Given the description of an element on the screen output the (x, y) to click on. 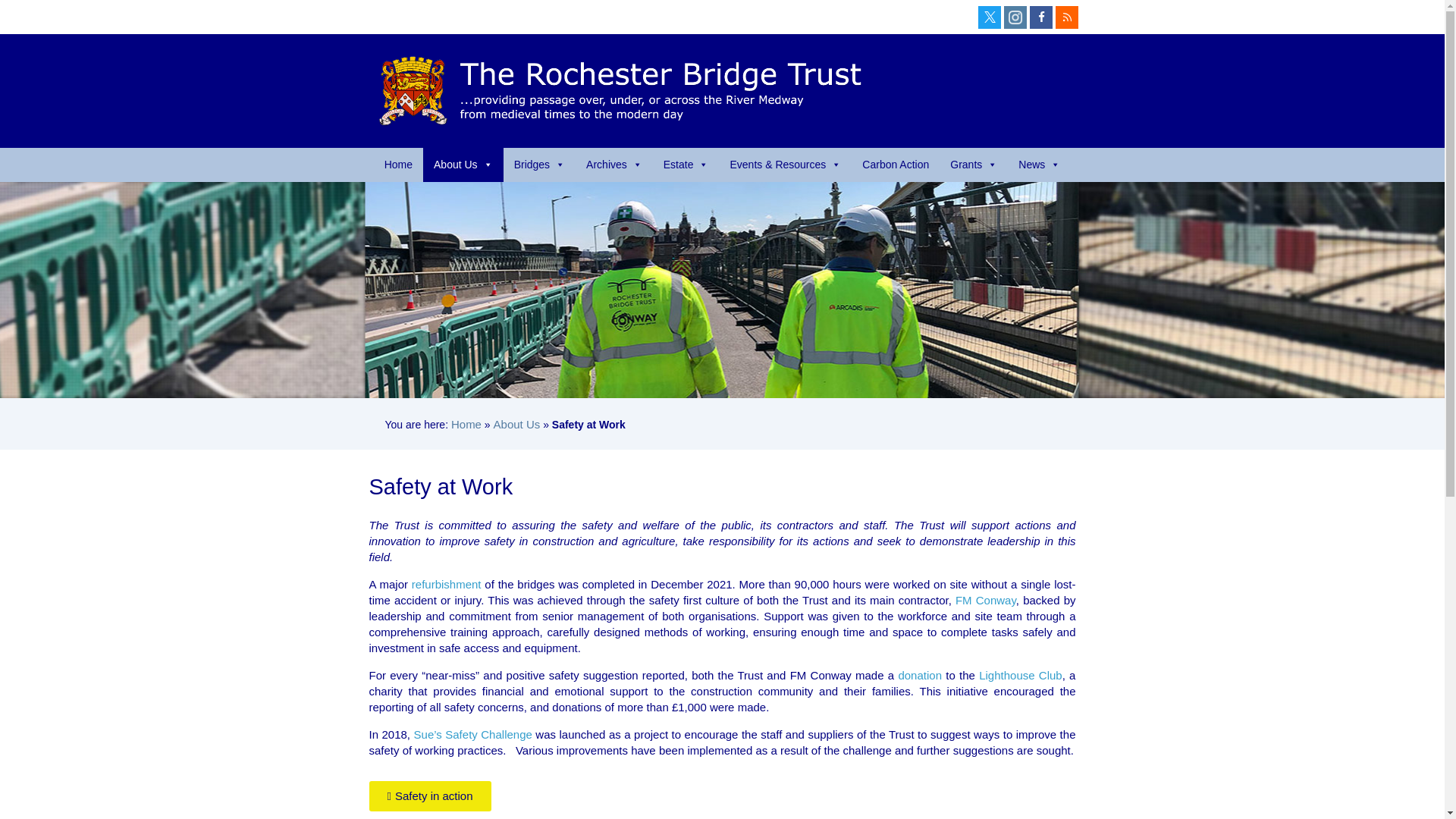
Home (398, 164)
About Us (463, 164)
Bridges (539, 164)
Home (398, 164)
